Given the description of an element on the screen output the (x, y) to click on. 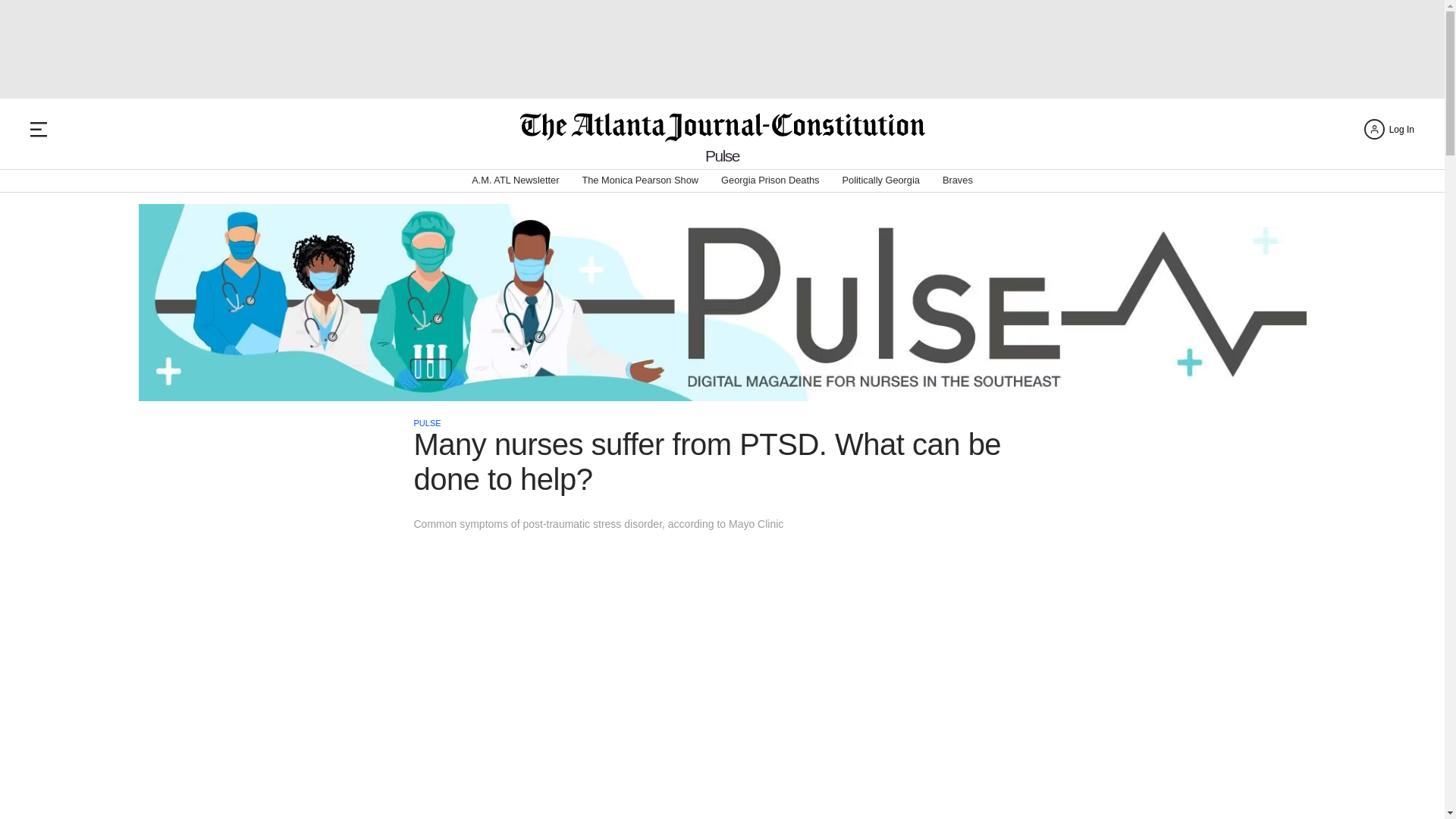
Georgia Prison Deaths (769, 180)
Braves (957, 180)
Politically Georgia (881, 180)
A.M. ATL Newsletter (515, 180)
The Monica Pearson Show (639, 180)
Pulse (721, 155)
